Given the description of an element on the screen output the (x, y) to click on. 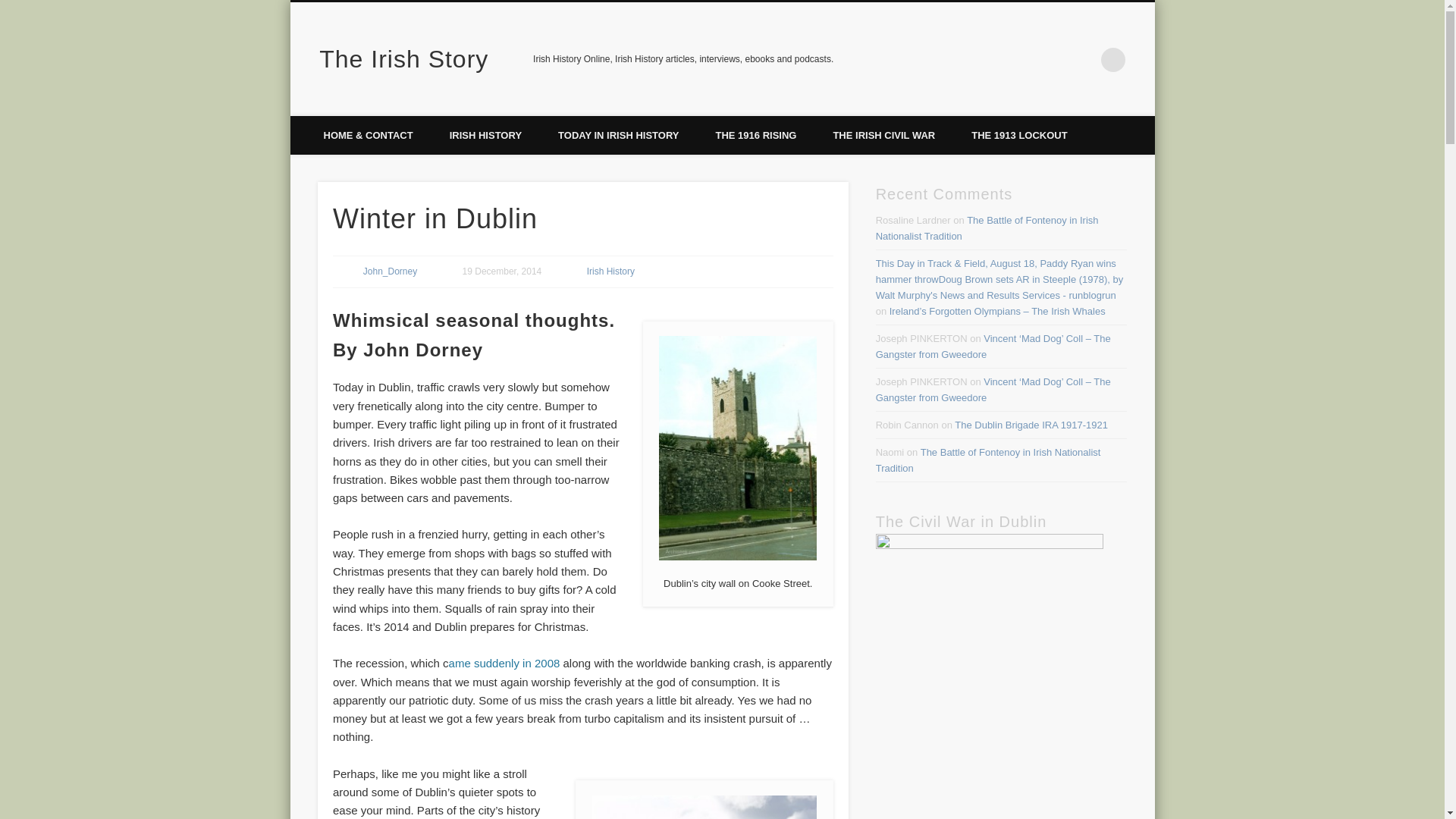
Facebook (1050, 59)
TODAY IN IRISH HISTORY (618, 135)
ame suddenly in 2008 (504, 662)
Twitter (1082, 59)
Search (11, 7)
THE 1913 LOCKOUT (1018, 135)
THE 1916 RISING (755, 135)
IRISH HISTORY (485, 135)
Irish History (610, 271)
THE IRISH CIVIL WAR (883, 135)
